Given the description of an element on the screen output the (x, y) to click on. 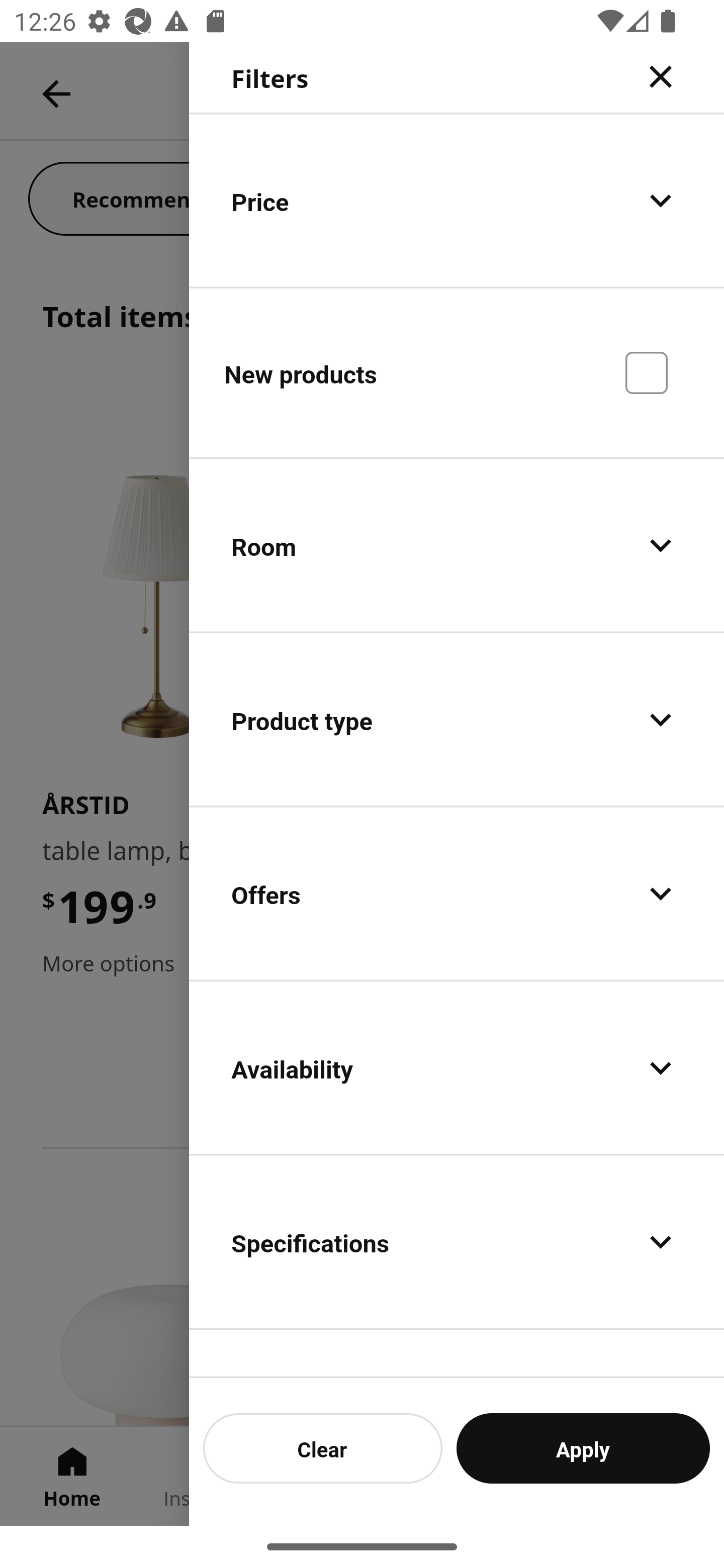
Price (456, 200)
New products (456, 371)
Room (456, 545)
Product type (456, 719)
Offers (456, 893)
Availability (456, 1067)
Specifications (456, 1241)
Clear (322, 1447)
Apply (583, 1447)
